Given the description of an element on the screen output the (x, y) to click on. 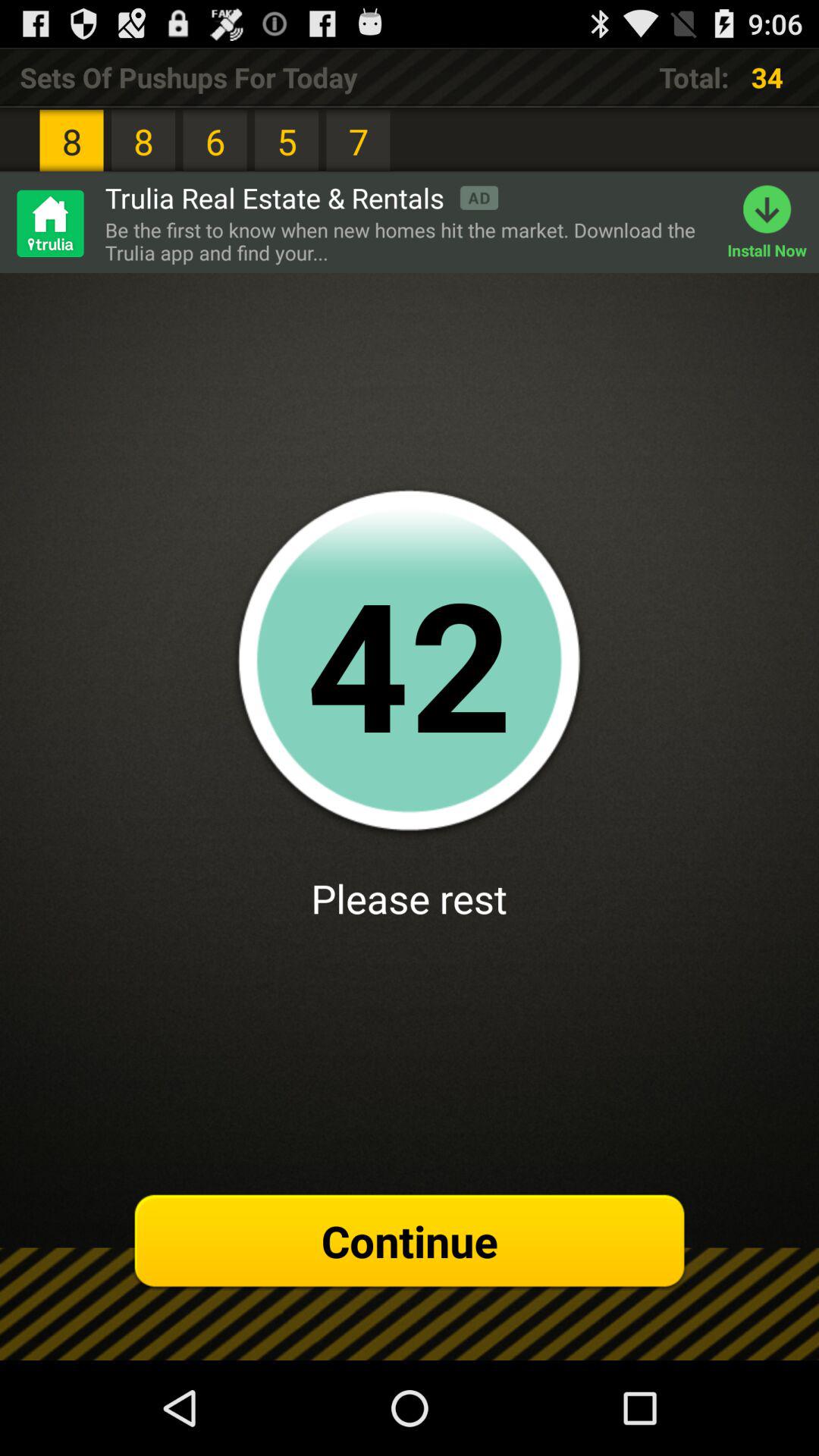
go to app page of the app in the advertisement (49, 222)
